Given the description of an element on the screen output the (x, y) to click on. 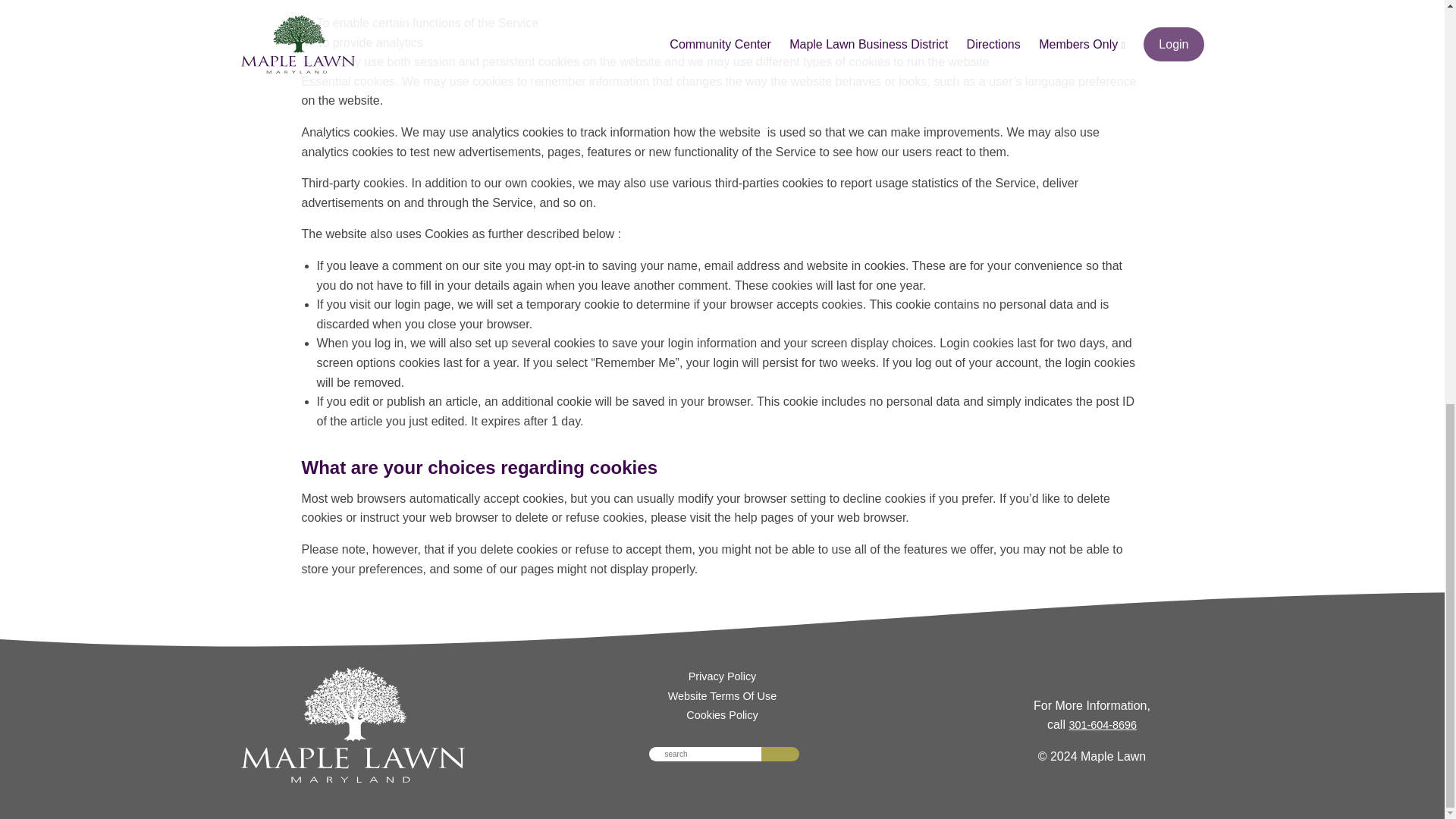
Search (780, 753)
